Given the description of an element on the screen output the (x, y) to click on. 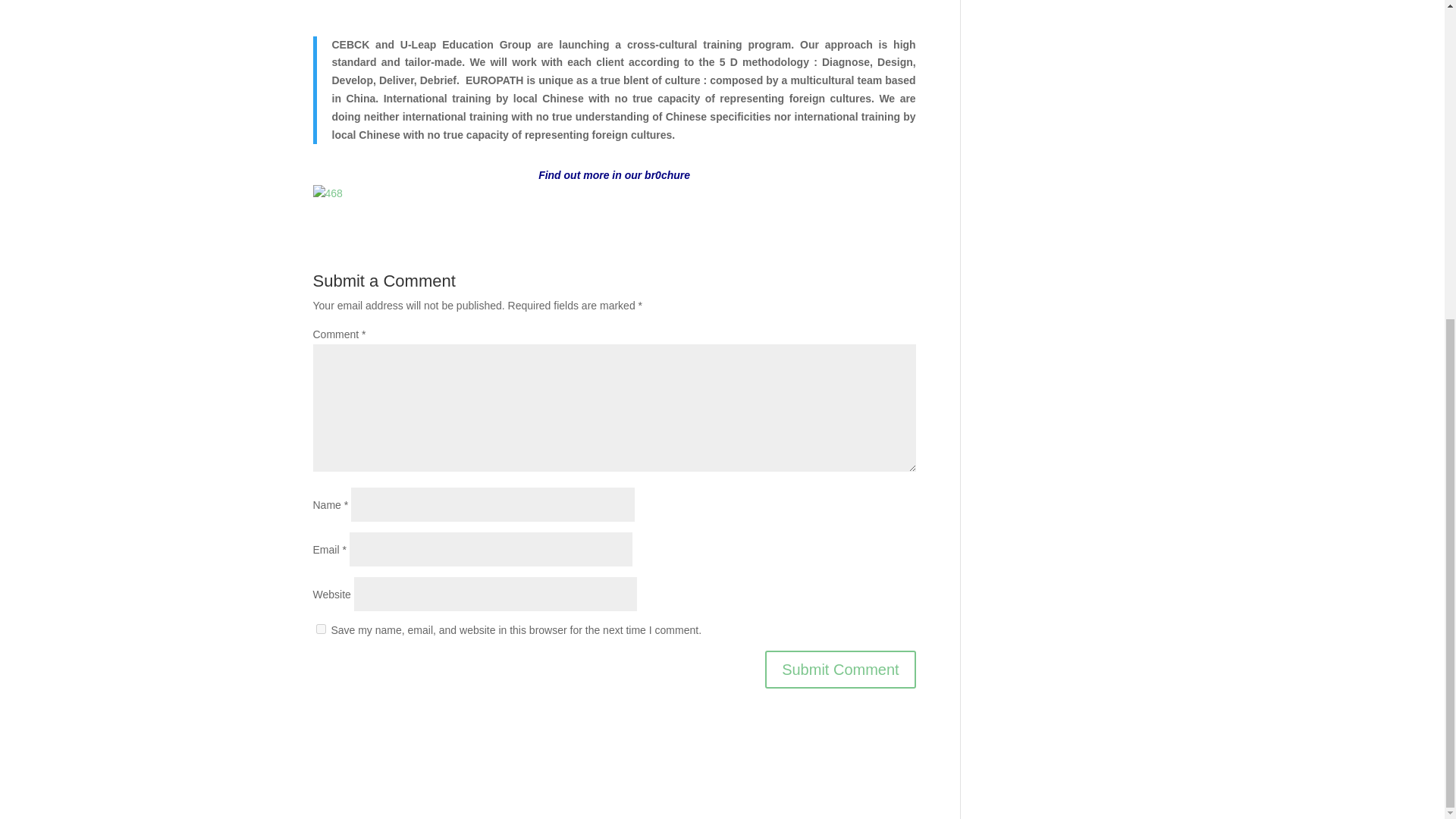
Submit Comment (840, 669)
yes (319, 628)
Find out more in our br0chure (614, 174)
Submit Comment (840, 669)
